Given the description of an element on the screen output the (x, y) to click on. 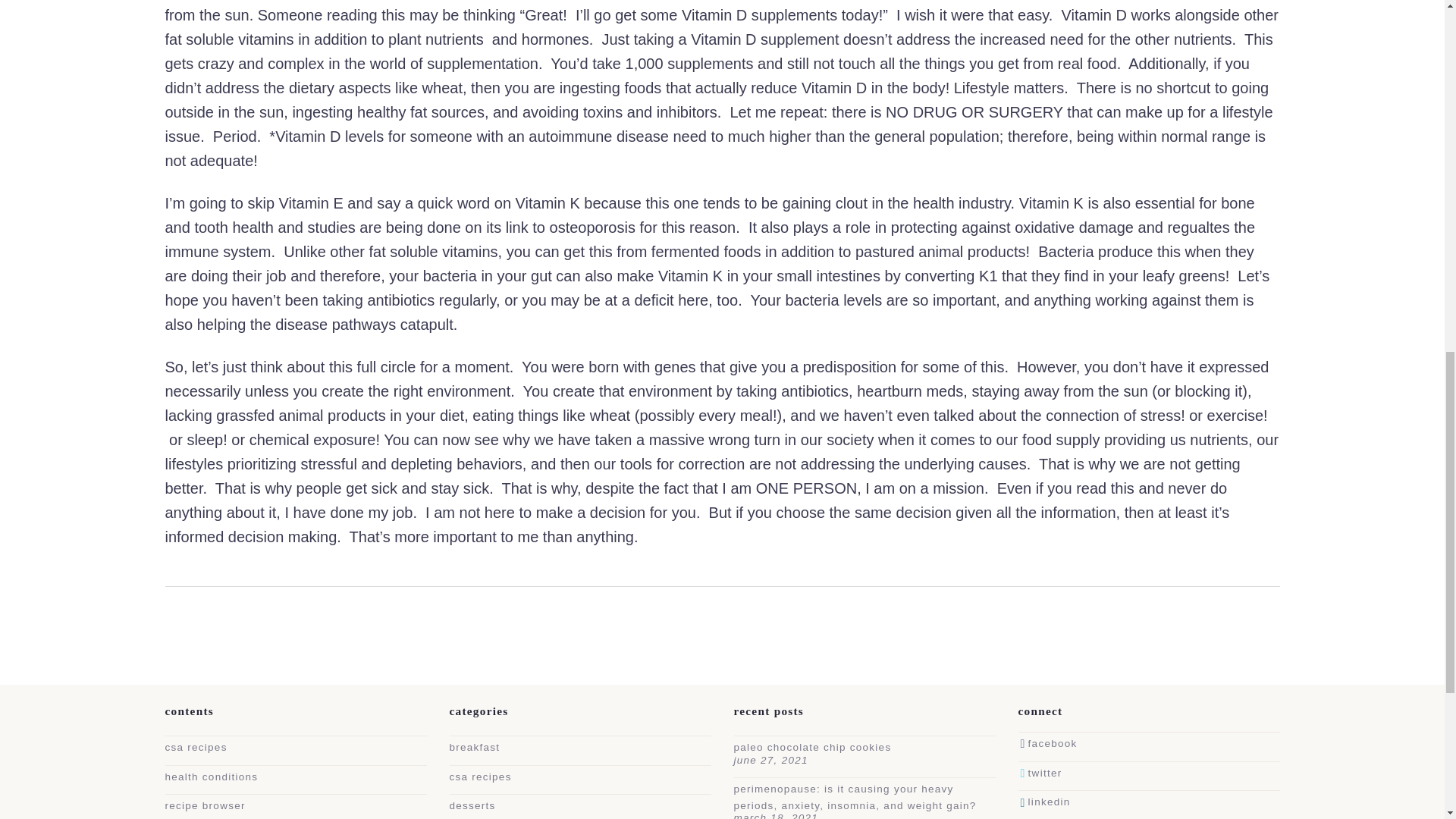
csa recipes (196, 747)
breakfast (473, 747)
recipe browser (205, 805)
health conditions (212, 776)
csa recipes (479, 776)
desserts (471, 805)
